Given the description of an element on the screen output the (x, y) to click on. 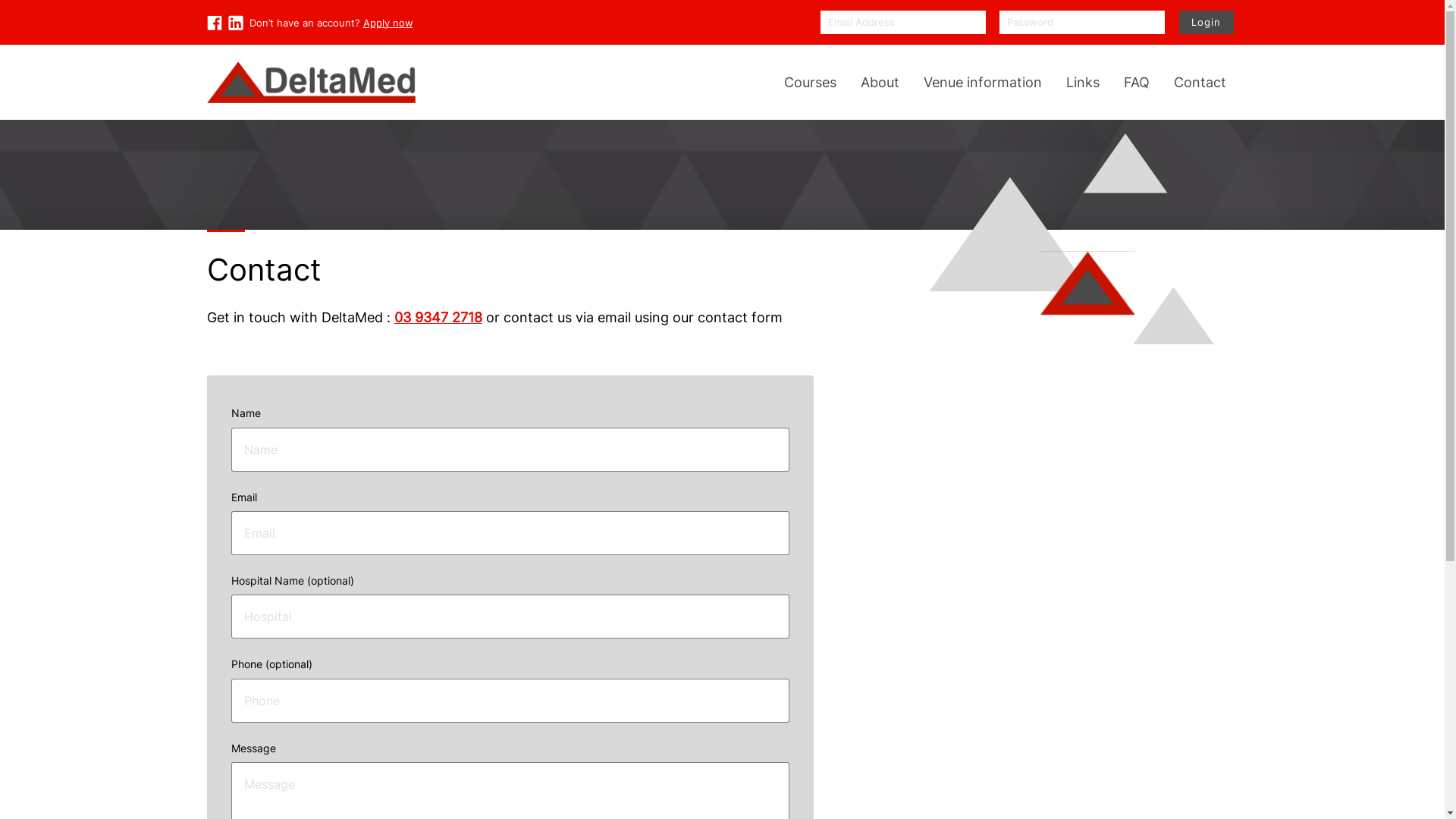
Contact Element type: text (1199, 82)
Venue information Element type: text (982, 82)
Courses Element type: text (810, 82)
Login Element type: text (1206, 21)
About Element type: text (878, 82)
Links Element type: text (1082, 82)
FAQ Element type: text (1136, 82)
Apply now Element type: text (387, 22)
03 9347 2718 Element type: text (438, 317)
